Given the description of an element on the screen output the (x, y) to click on. 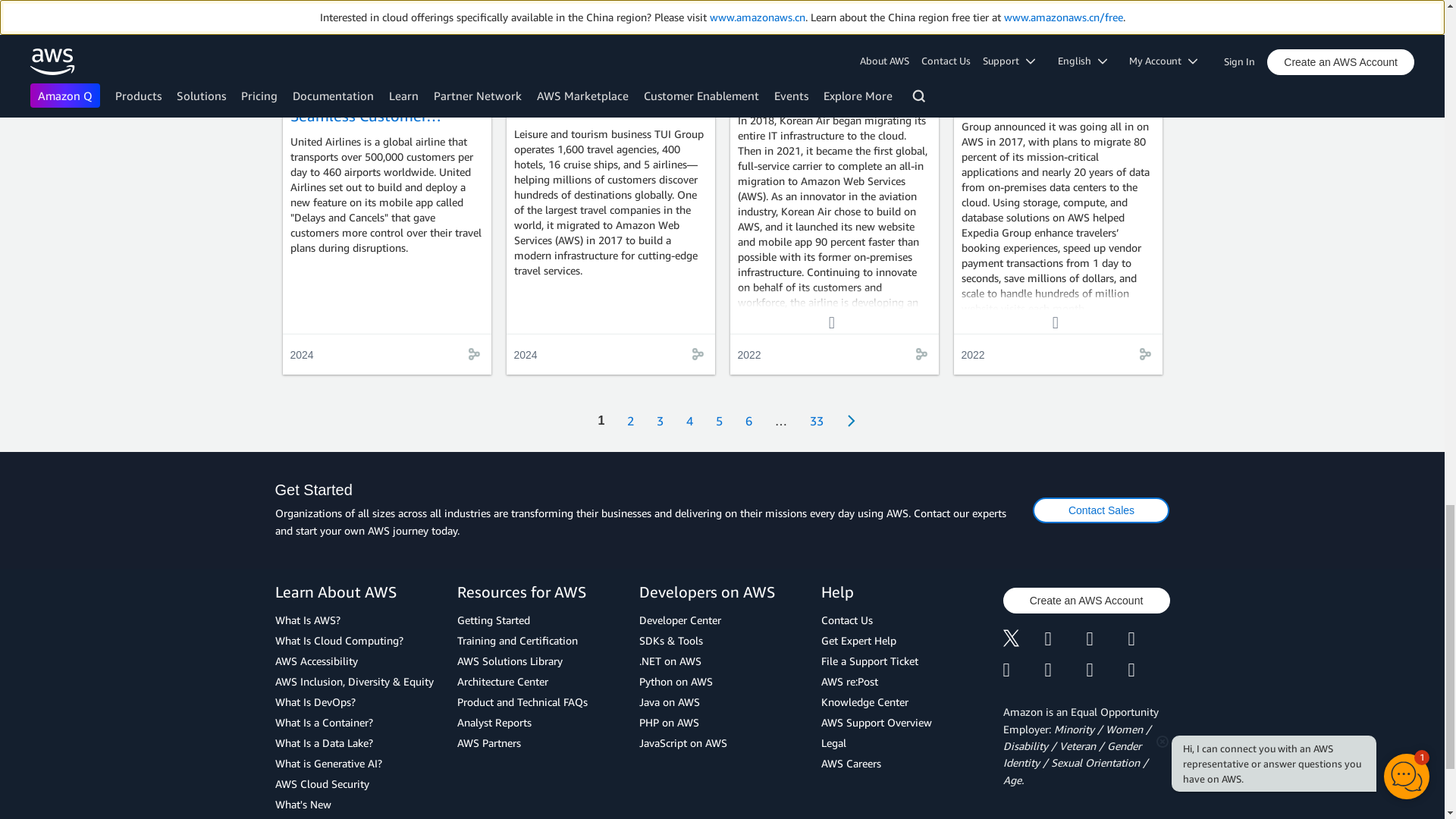
Twitch (1023, 670)
Linkedin (1106, 639)
Instagram (1149, 639)
Twitter (1023, 639)
Facebook (1065, 639)
